Given the description of an element on the screen output the (x, y) to click on. 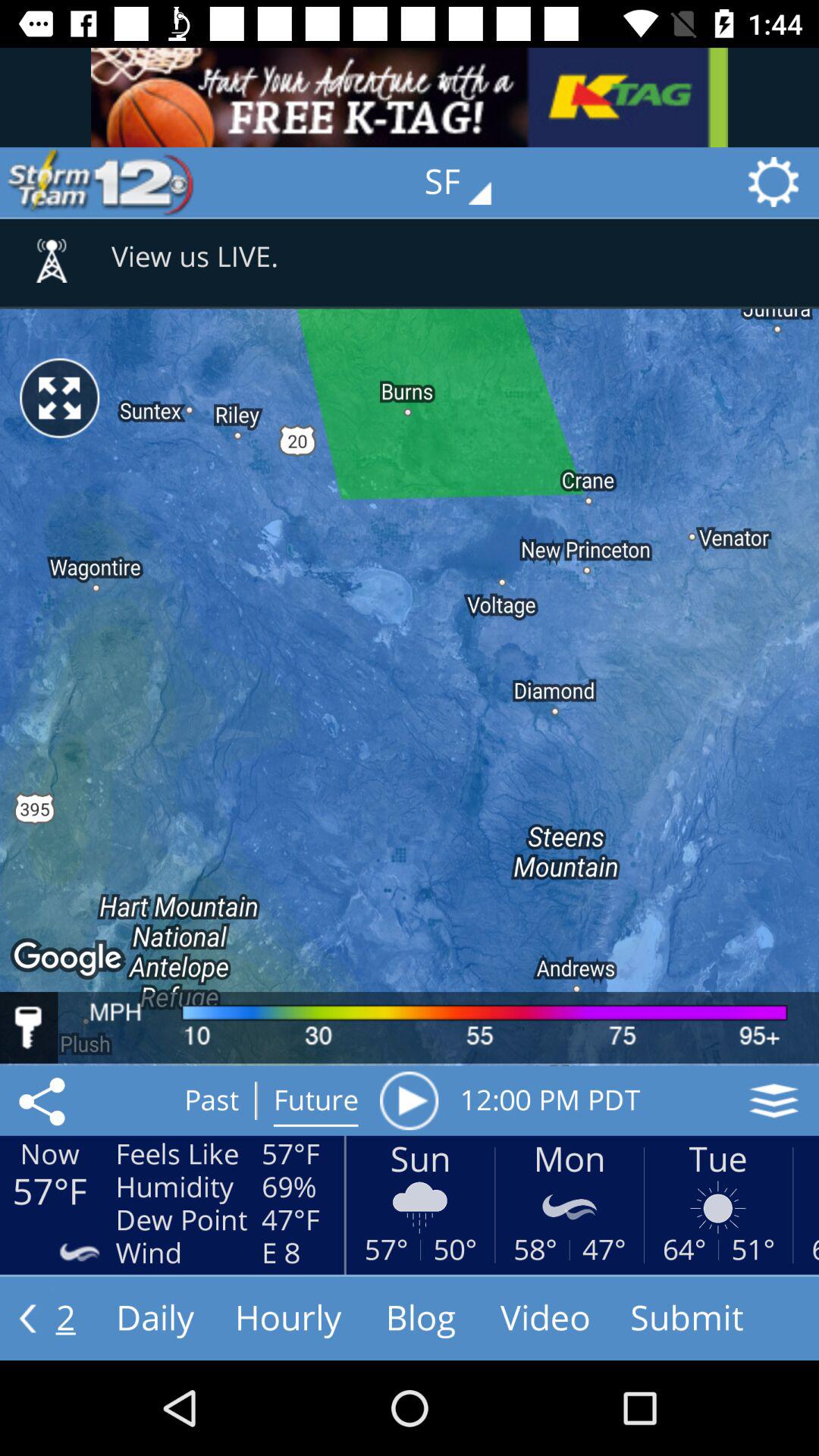
turn on icon to the left of the 12 00 pm (409, 1100)
